Given the description of an element on the screen output the (x, y) to click on. 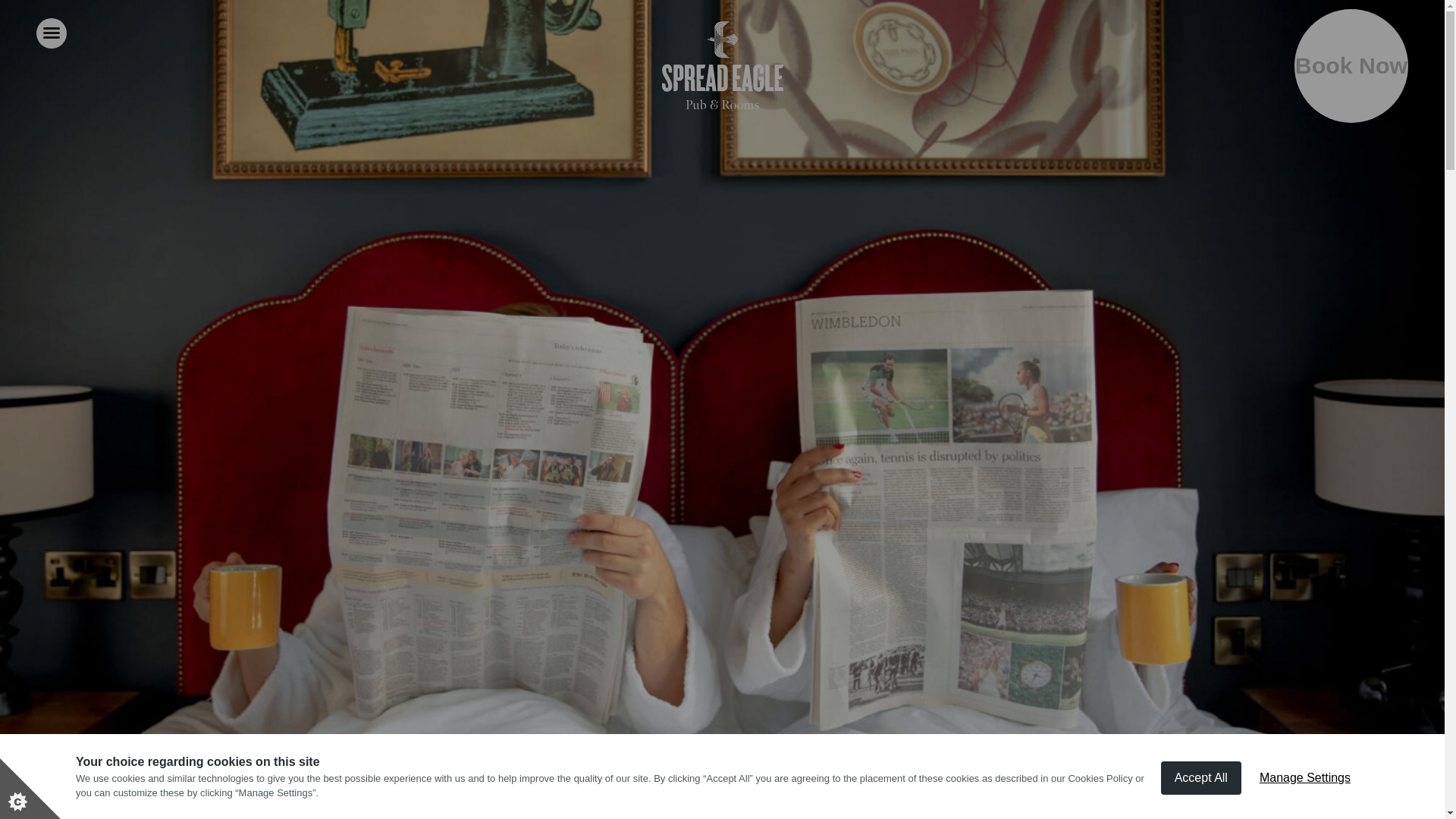
Accept All (1200, 815)
Book Now (1350, 65)
Manage Settings (1304, 806)
